Given the description of an element on the screen output the (x, y) to click on. 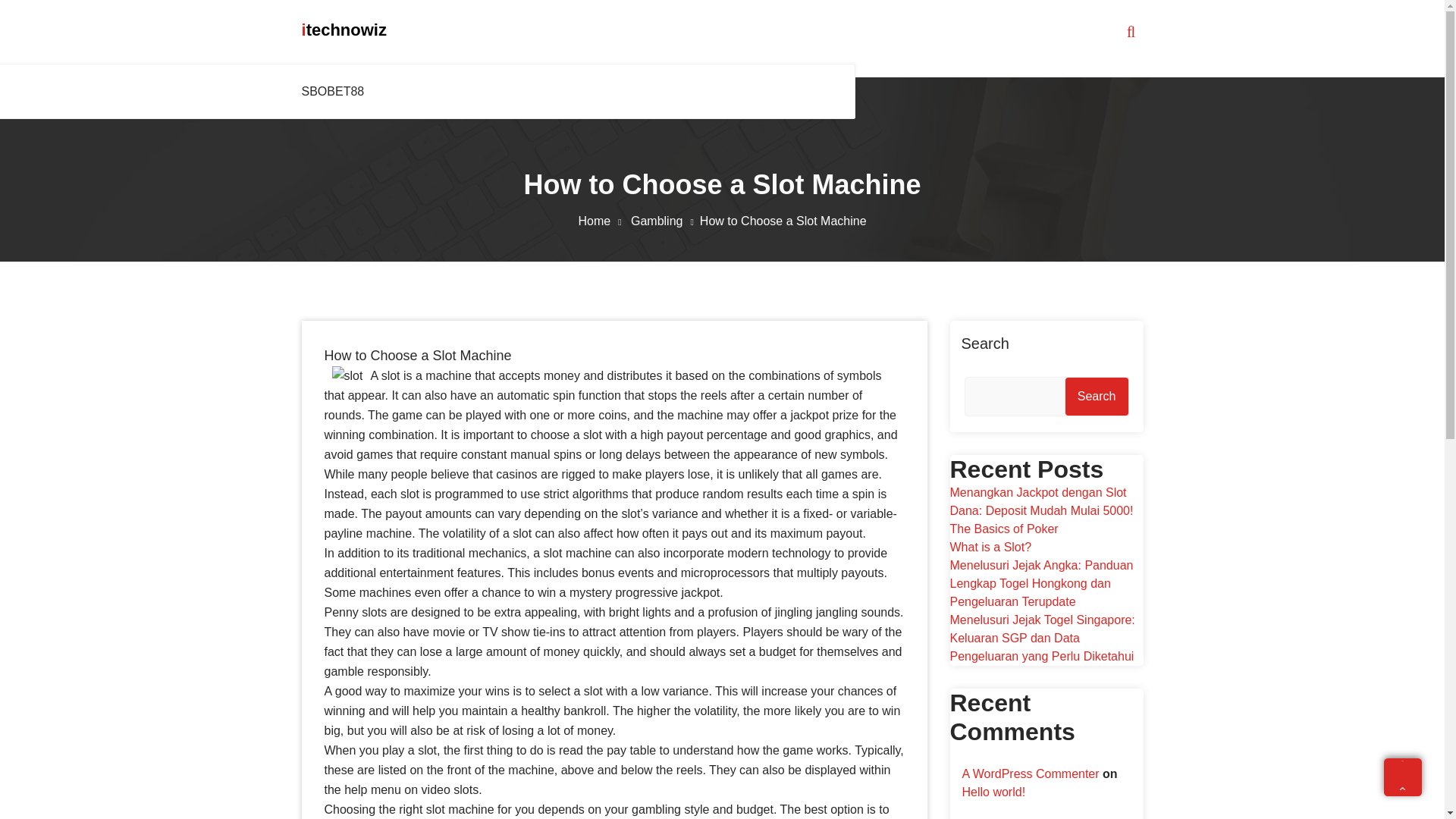
Hello world! (992, 791)
Home (602, 220)
SBOBET88 (336, 91)
Gambling (665, 220)
What is a Slot? (989, 546)
The Basics of Poker (1003, 528)
itechnowiz (344, 30)
Search (1096, 396)
SBOBET88 (336, 91)
A WordPress Commenter (1029, 773)
